Given the description of an element on the screen output the (x, y) to click on. 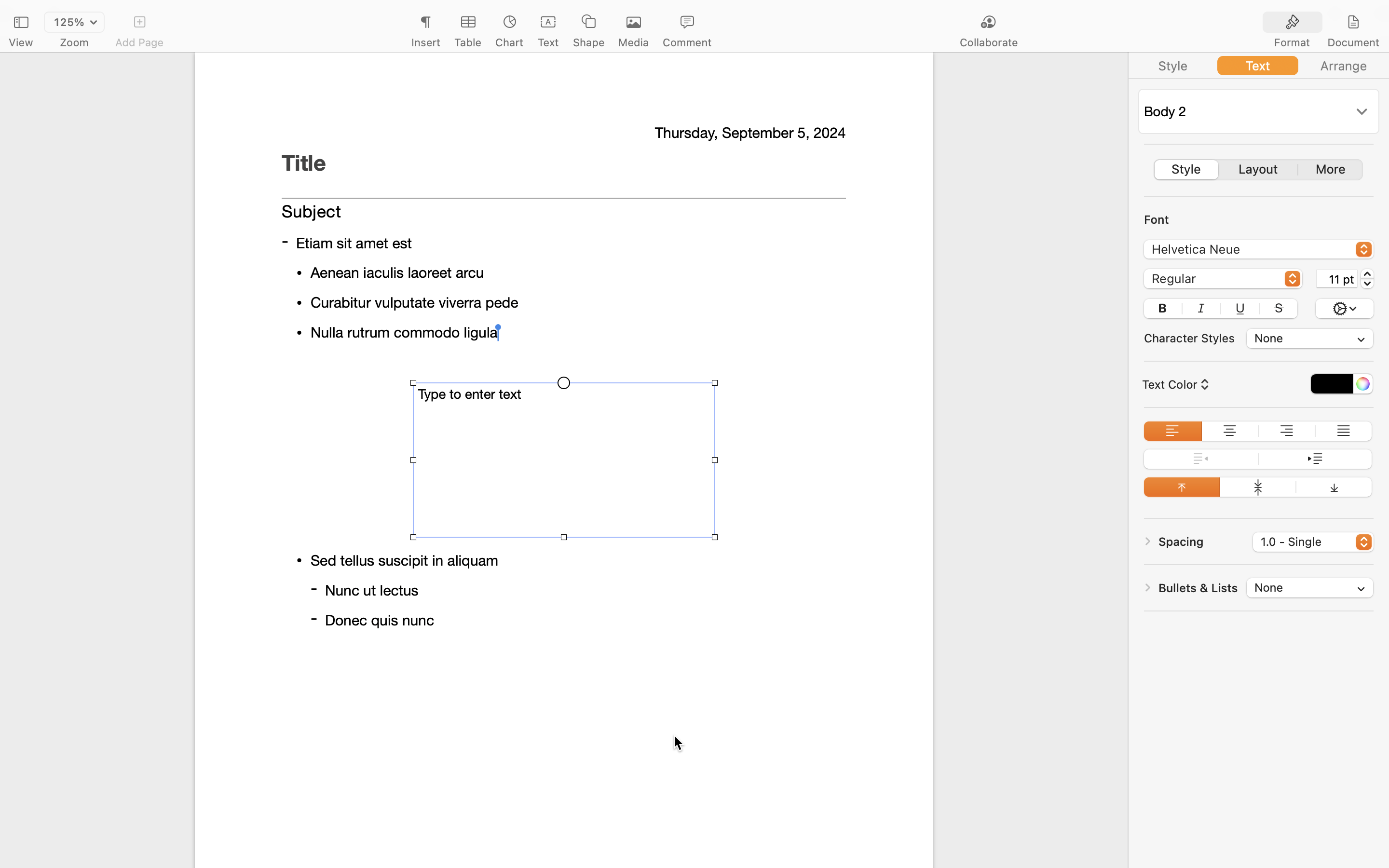
Media Element type: AXStaticText (633, 42)
Spacing Element type: AXStaticText (1180, 541)
11 pt Element type: AXTextField (1336, 278)
Insert Element type: AXStaticText (425, 42)
Helvetica Neue Element type: AXPopUpButton (1259, 250)
